Given the description of an element on the screen output the (x, y) to click on. 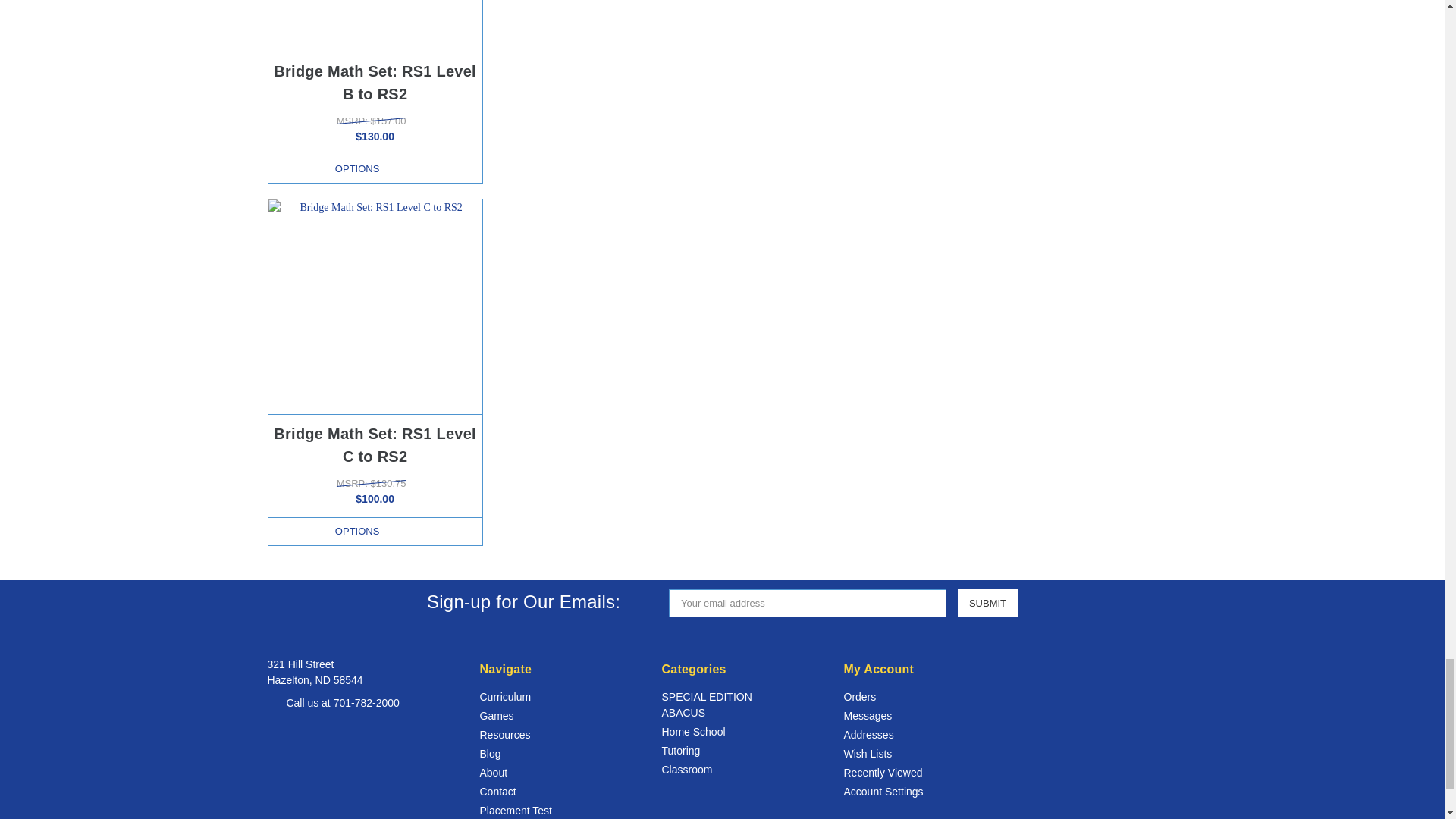
Bridge Math Set: RS1 Level B to RS2 (374, 25)
Submit (987, 602)
Bridge Math Set: RS1 Level C to RS2 (374, 306)
